Given the description of an element on the screen output the (x, y) to click on. 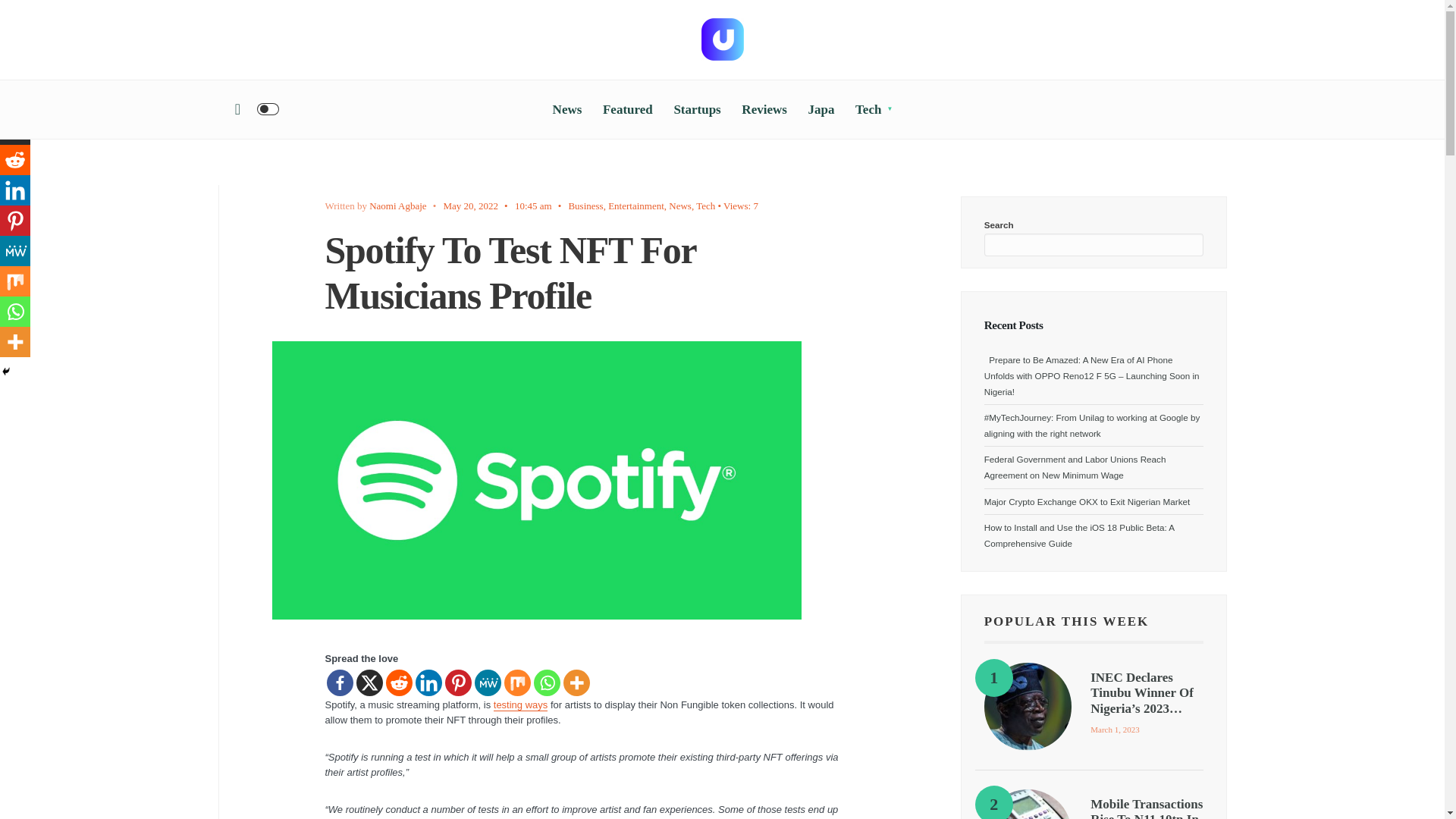
Posts by Naomi Agbaje (397, 205)
Startups (696, 109)
X (369, 682)
Tech (873, 109)
Business (584, 205)
Mix (516, 682)
Facebook (339, 682)
News (679, 205)
Pinterest (457, 682)
Tech (704, 205)
More (575, 682)
Reddit (398, 682)
Featured (627, 109)
Facebook (15, 99)
Whatsapp (547, 682)
